Given the description of an element on the screen output the (x, y) to click on. 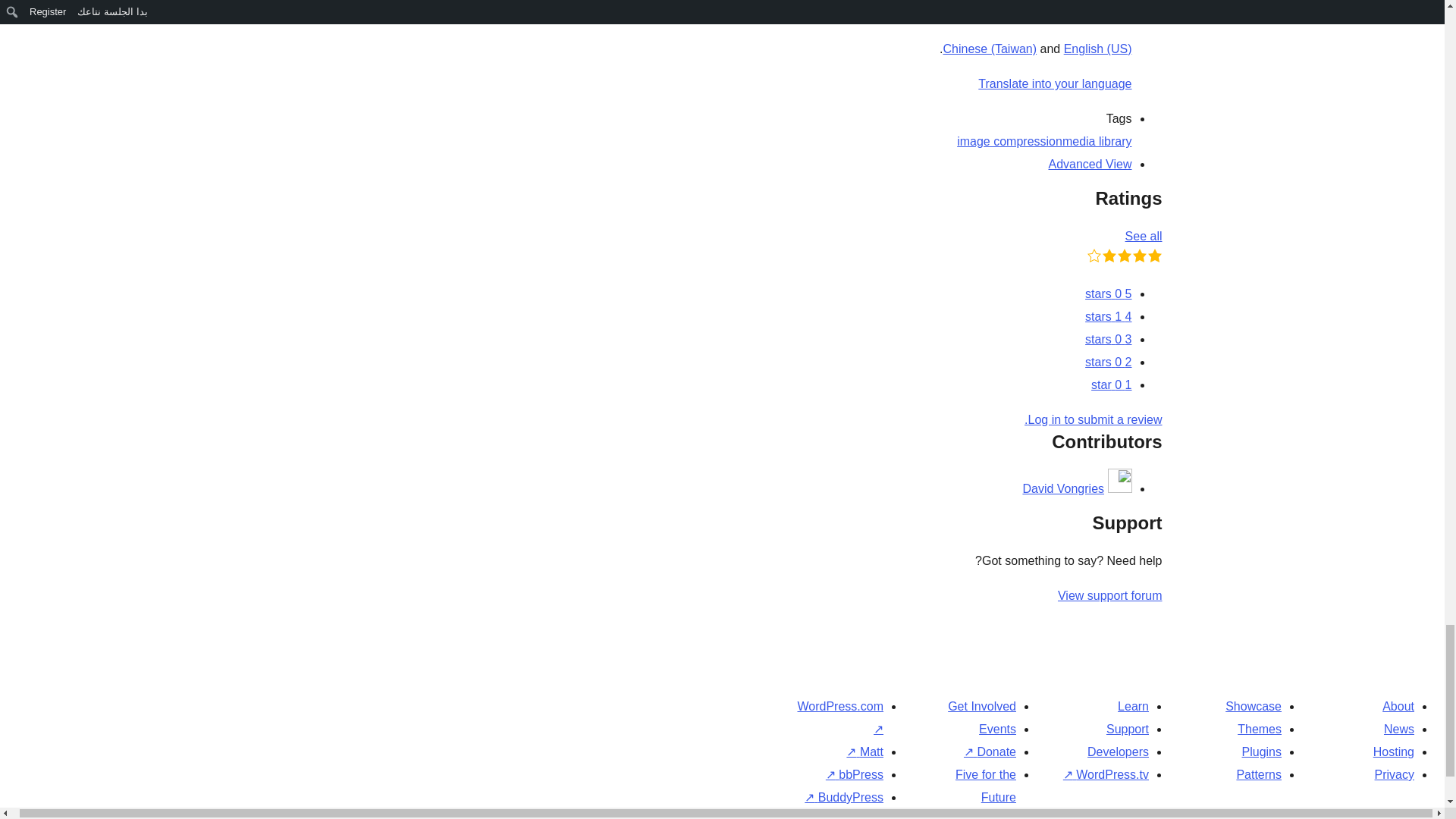
WordPress.org (1433, 818)
WordPress.org (1282, 813)
Log in to WordPress.org (1093, 419)
